Given the description of an element on the screen output the (x, y) to click on. 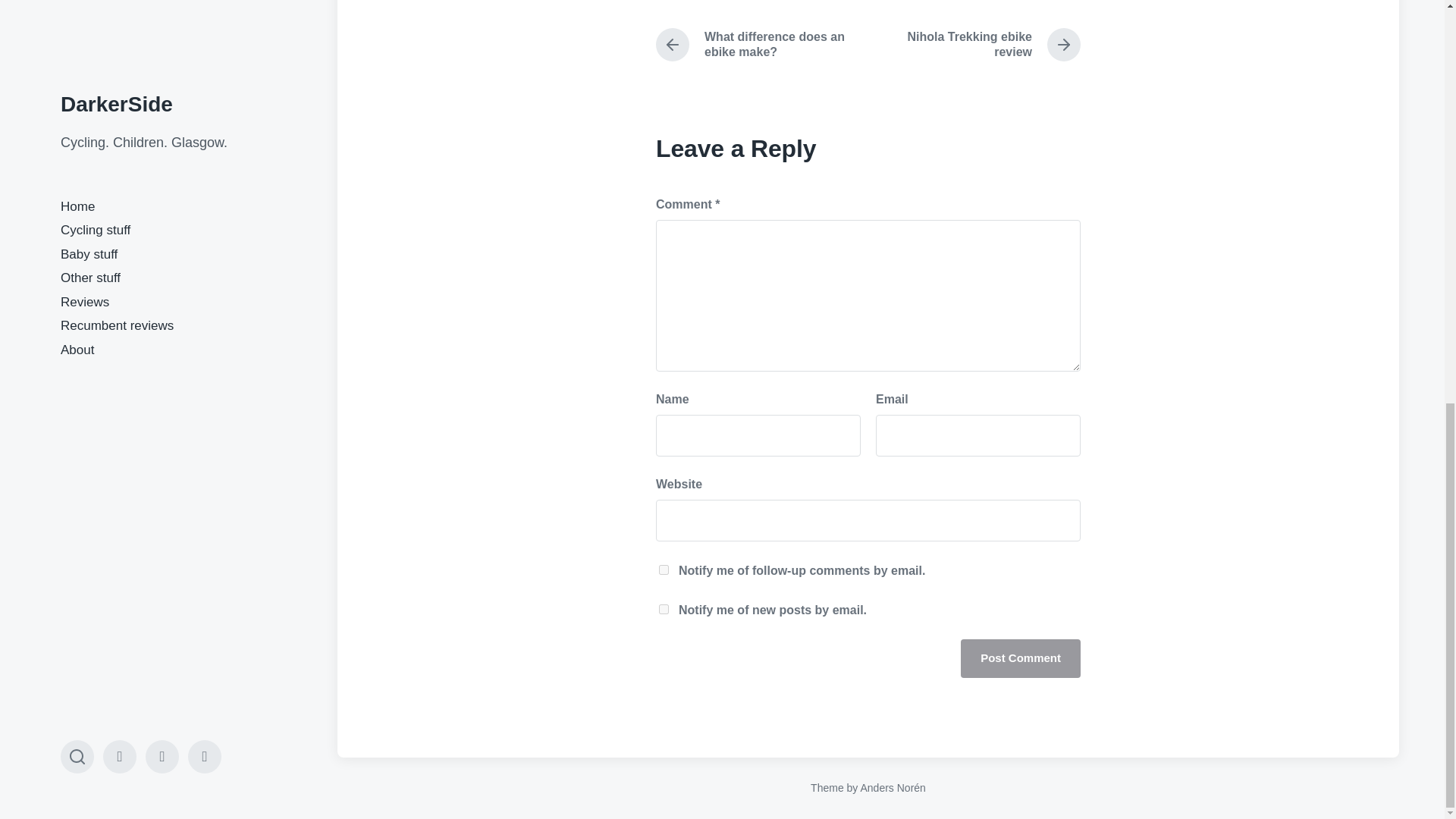
Post Comment (766, 44)
subscribe (990, 44)
subscribe (1020, 658)
Post Comment (663, 609)
